Given the description of an element on the screen output the (x, y) to click on. 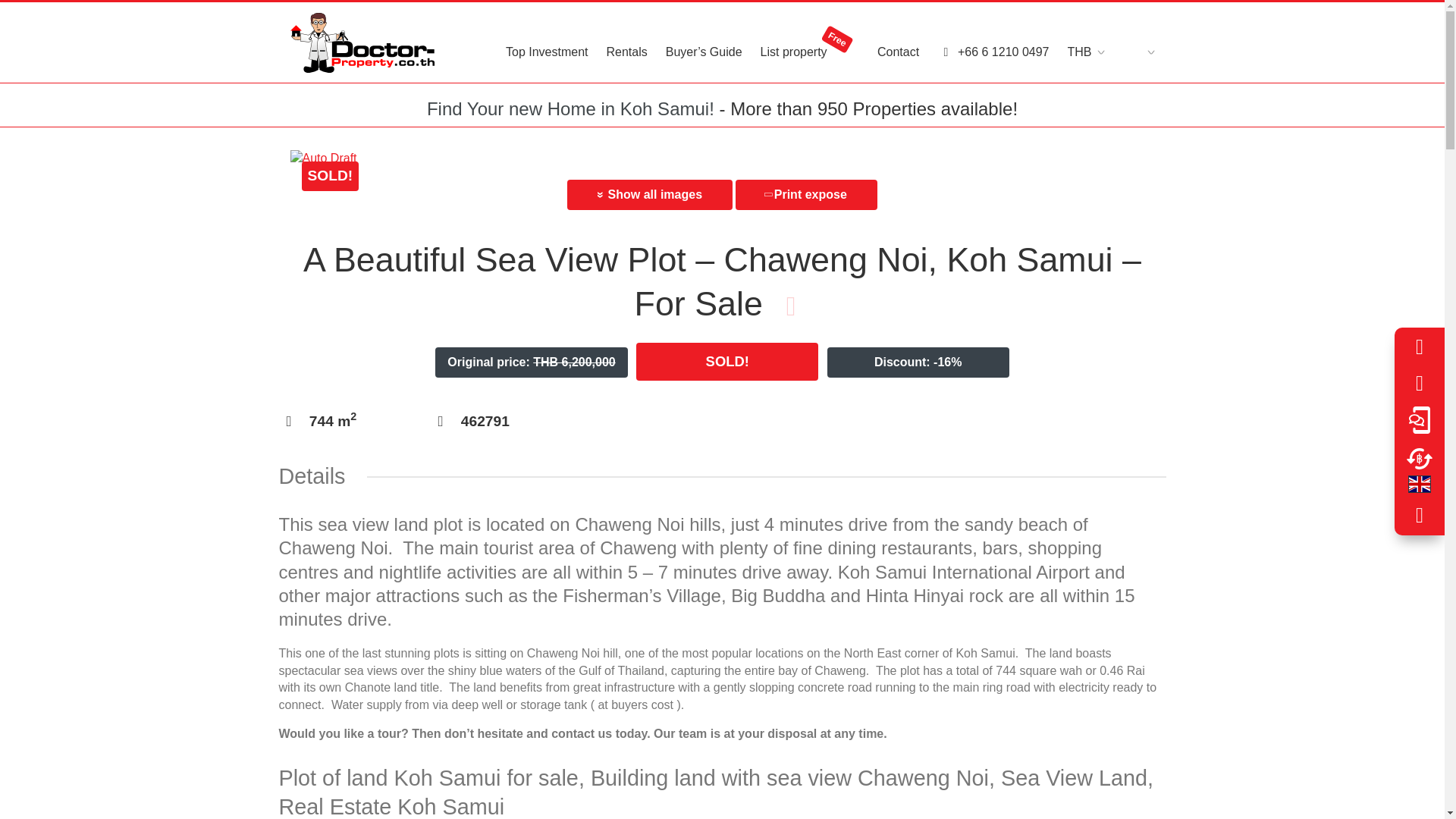
Top Investment (546, 42)
Plot Area (332, 421)
Add to your favorites. (790, 306)
Favorites (1419, 347)
List propertyFree (809, 42)
Switch currency (1419, 458)
